Given the description of an element on the screen output the (x, y) to click on. 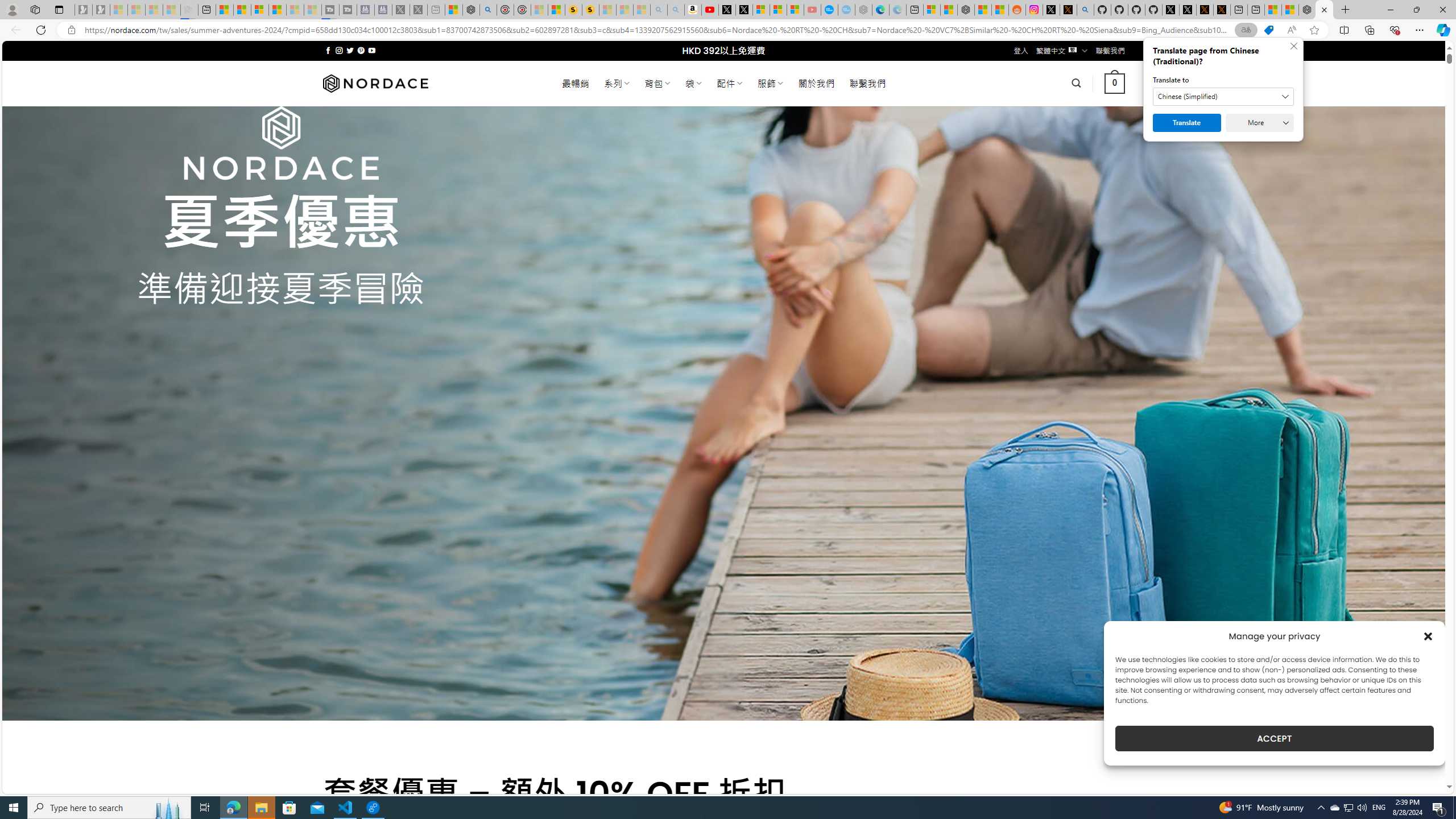
The most popular Google 'how to' searches - Sleeping (846, 9)
Gloom - YouTube - Sleeping (812, 9)
Amazon Echo Dot PNG - Search Images - Sleeping (675, 9)
